Given the description of an element on the screen output the (x, y) to click on. 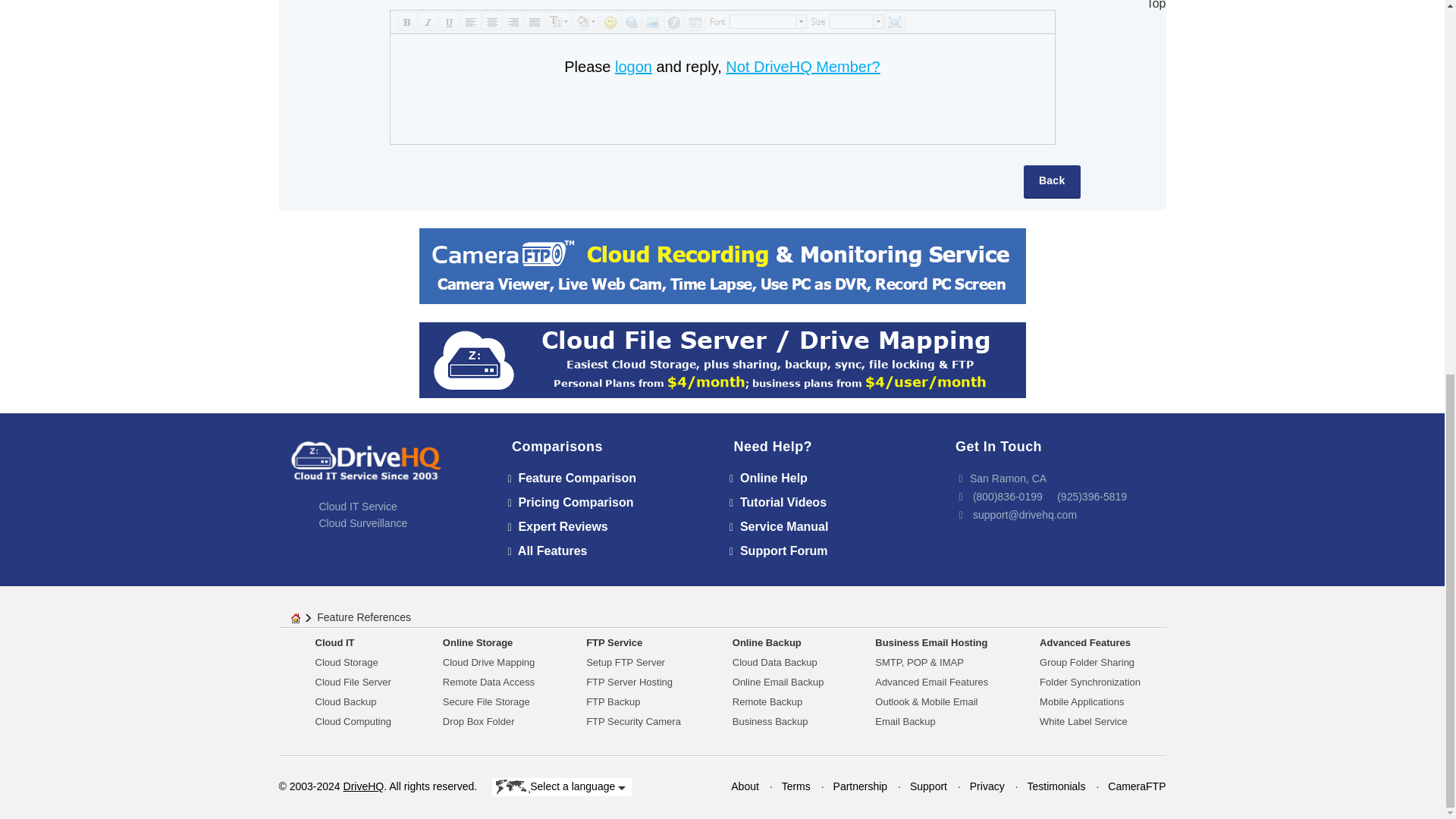
Back (1051, 182)
